Given the description of an element on the screen output the (x, y) to click on. 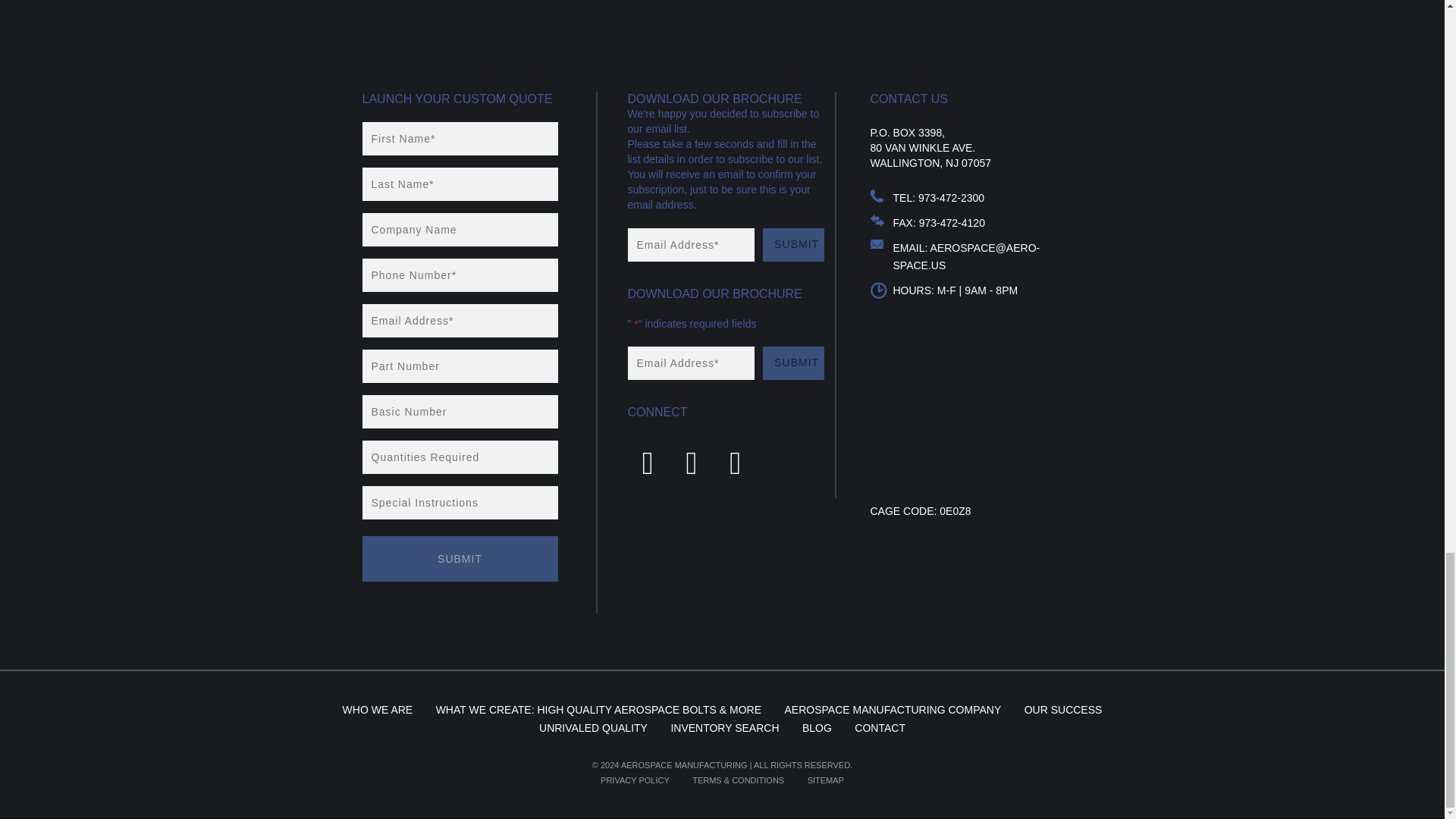
Submit (459, 558)
Submit (793, 244)
Aerospace (418, 20)
Submit (793, 363)
Back to Top (1254, 20)
